Given the description of an element on the screen output the (x, y) to click on. 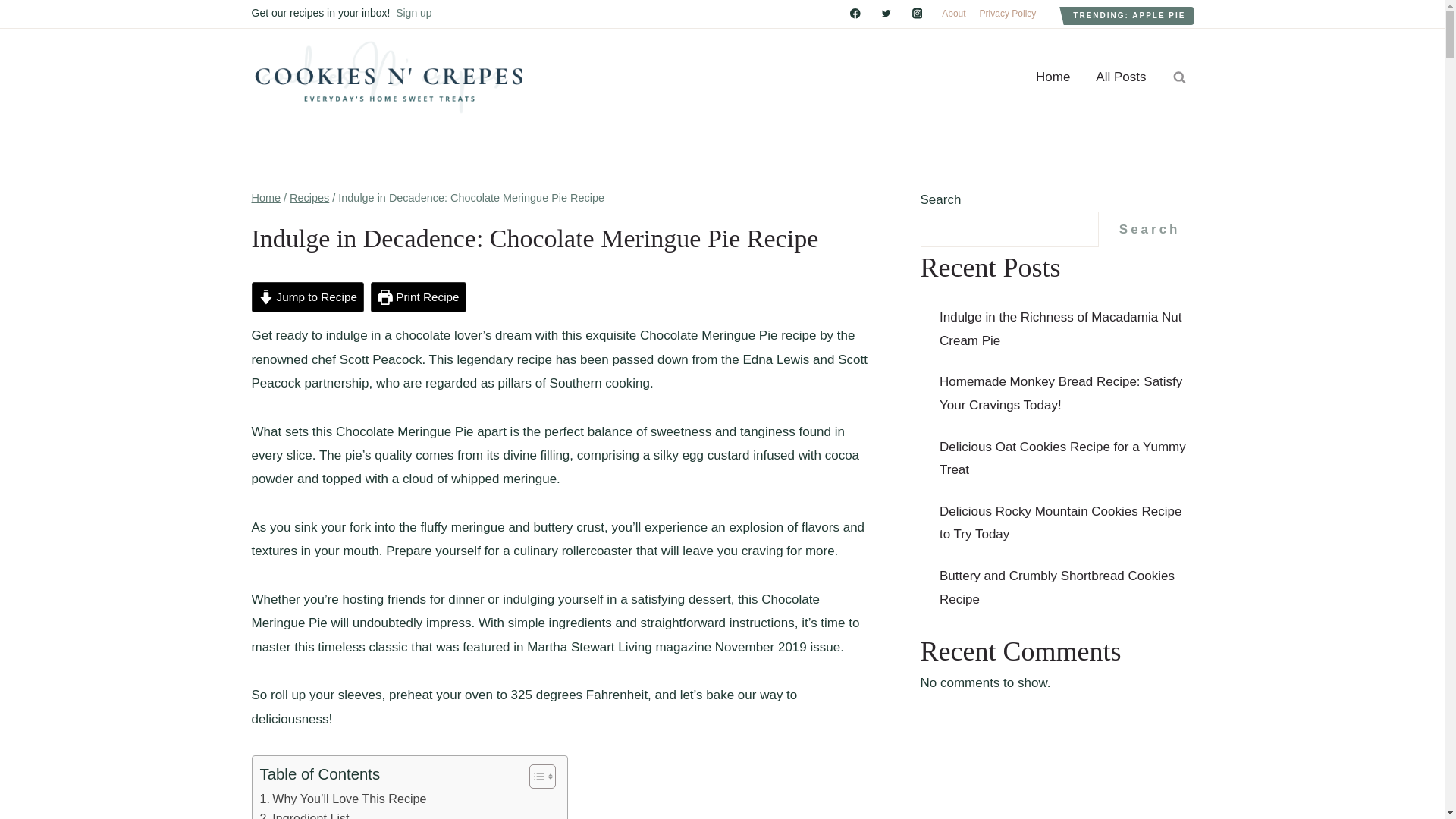
Home (1053, 77)
Ingredient List (304, 814)
All Posts (1120, 77)
Jump to Recipe (307, 296)
Recipes (309, 197)
About (953, 13)
Print Recipe (418, 296)
Home (266, 197)
TRENDING: APPLE PIE (1128, 15)
Ingredient List (304, 814)
